Given the description of an element on the screen output the (x, y) to click on. 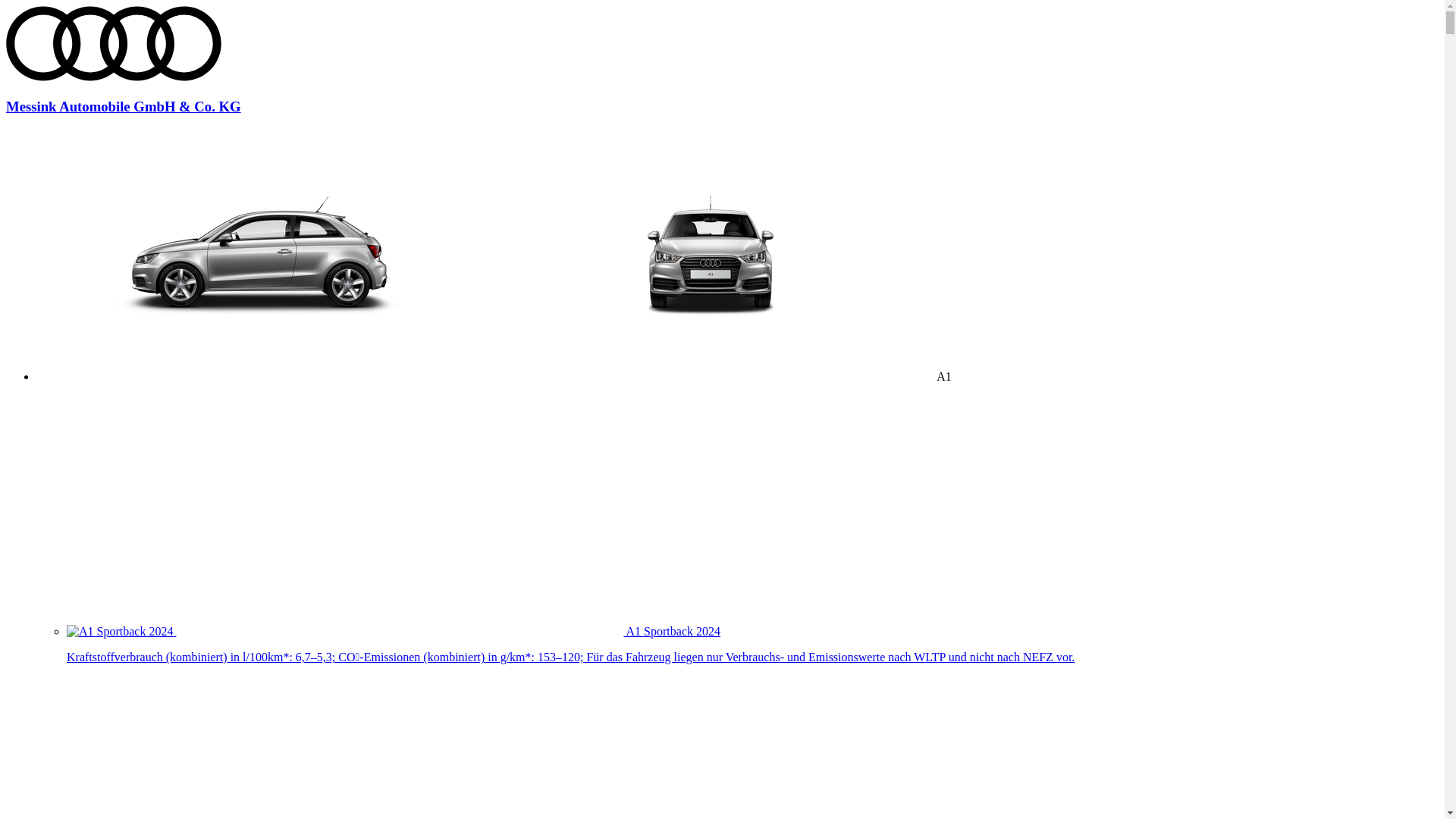
A1 Element type: text (493, 376)
Messink Automobile GmbH & Co. KG Element type: text (722, 92)
